Given the description of an element on the screen output the (x, y) to click on. 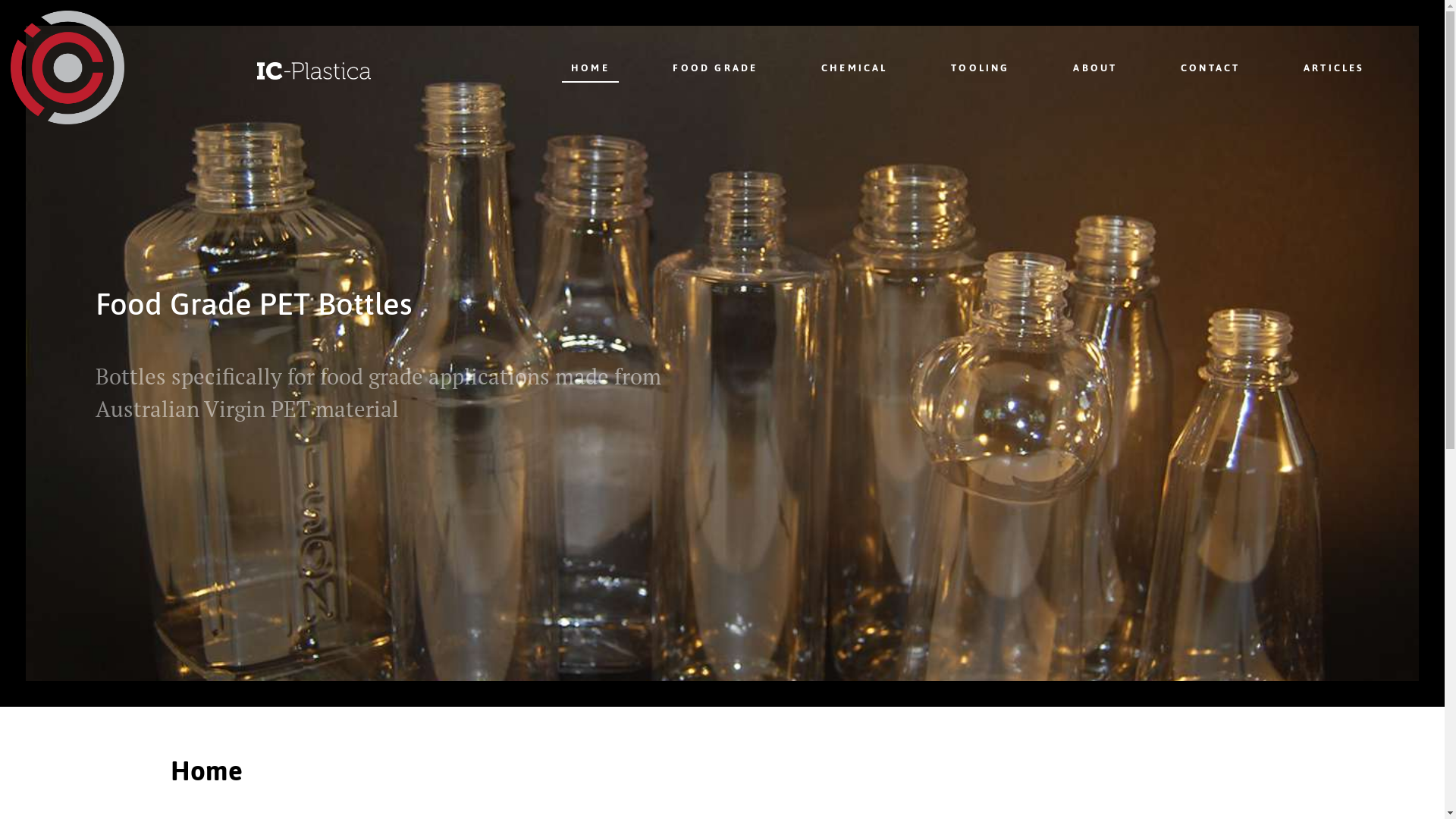
clarity Element type: hover (361, 67)
TOOLING Element type: text (980, 66)
ARTICLES Element type: text (1334, 66)
FOOD GRADE Element type: text (715, 66)
CHEMICAL Element type: text (854, 66)
HOME Element type: text (590, 67)
ABOUT Element type: text (1094, 66)
Food Grade PET Bottles Element type: text (253, 303)
CONTACT Element type: text (1210, 66)
clarity Element type: hover (115, 67)
